Given the description of an element on the screen output the (x, y) to click on. 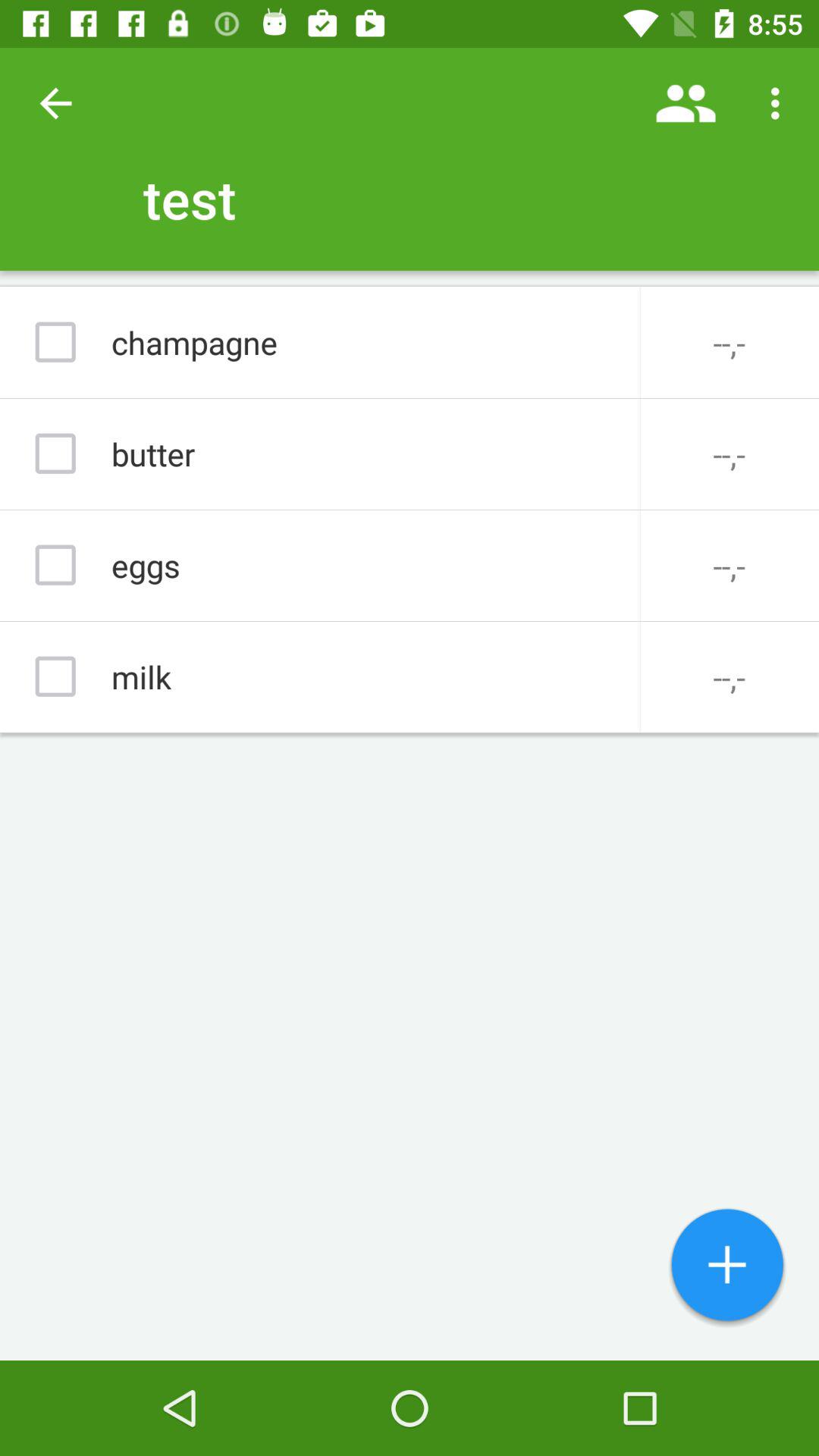
click icon next to test (55, 103)
